Given the description of an element on the screen output the (x, y) to click on. 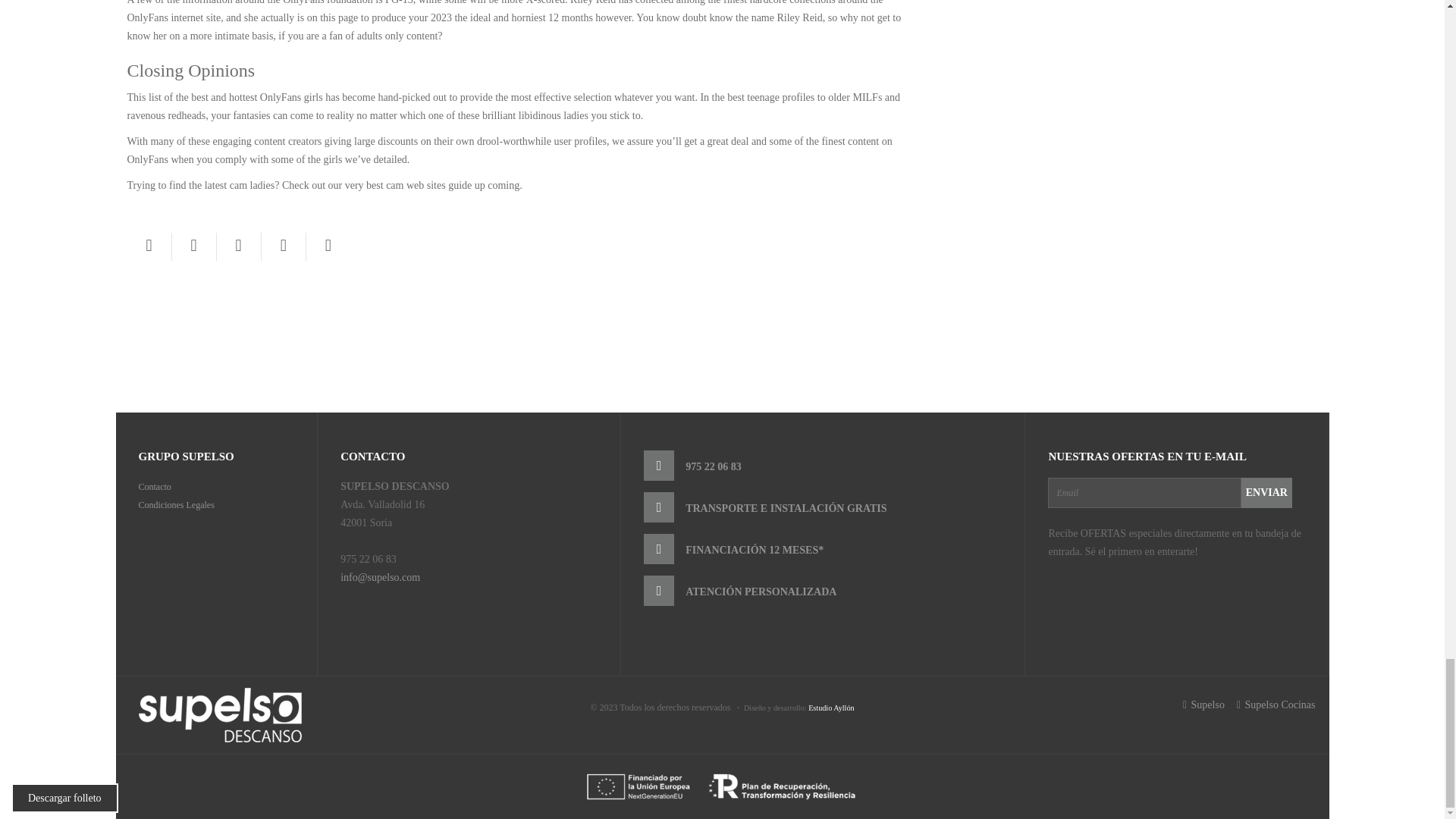
Contacto (154, 486)
Enviar (1266, 492)
Facebook (149, 245)
Supelso Cocinas (1275, 704)
Supelso (1203, 704)
Twitter (193, 245)
Pinterest (238, 245)
Supelso Cocinas (1275, 704)
Enviar (1266, 492)
Supelso Descanso (219, 713)
